Given the description of an element on the screen output the (x, y) to click on. 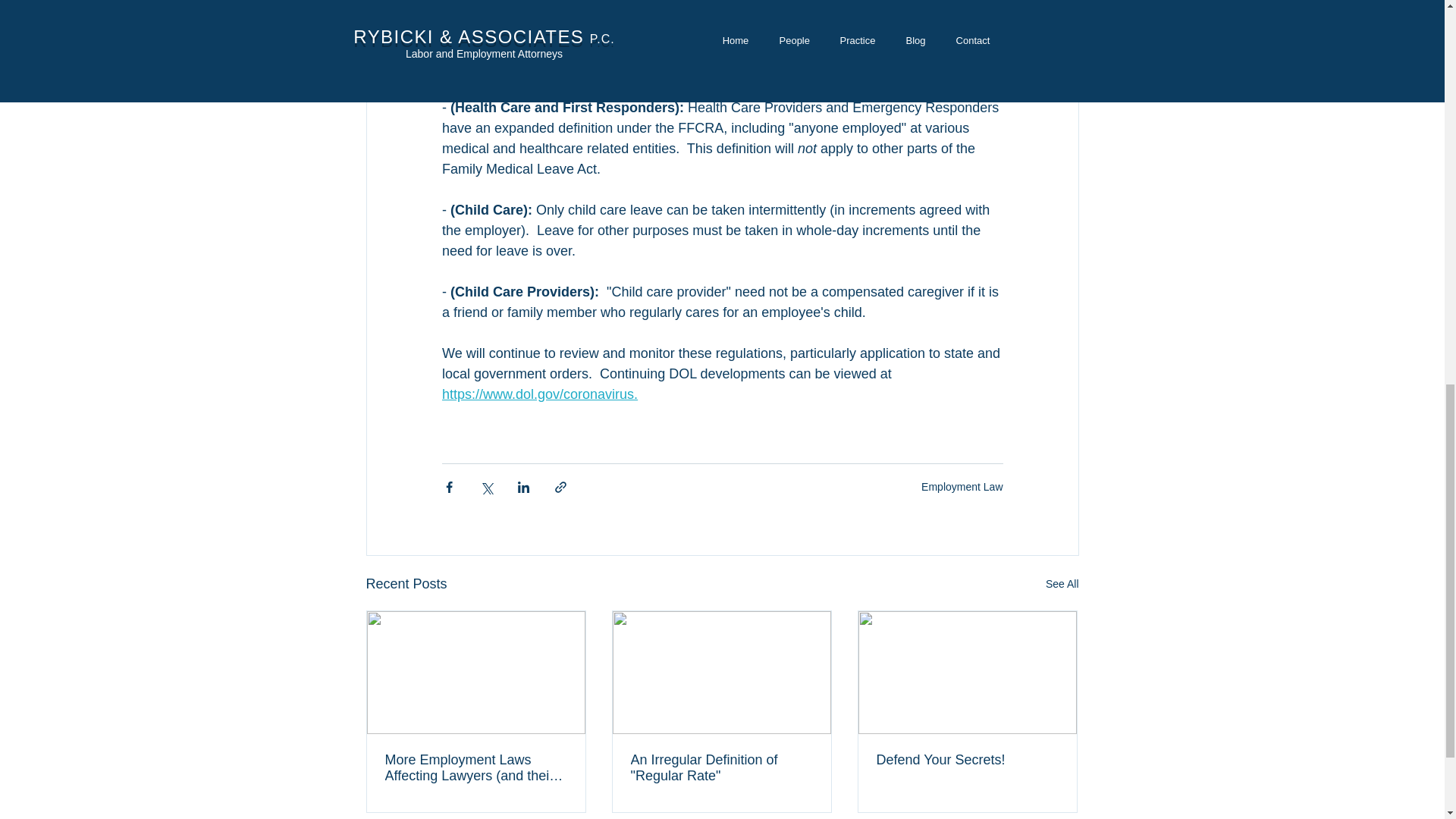
Employment Law (962, 486)
See All (1061, 584)
Defend Your Secrets! (967, 760)
An Irregular Definition of "Regular Rate" (721, 767)
